Given the description of an element on the screen output the (x, y) to click on. 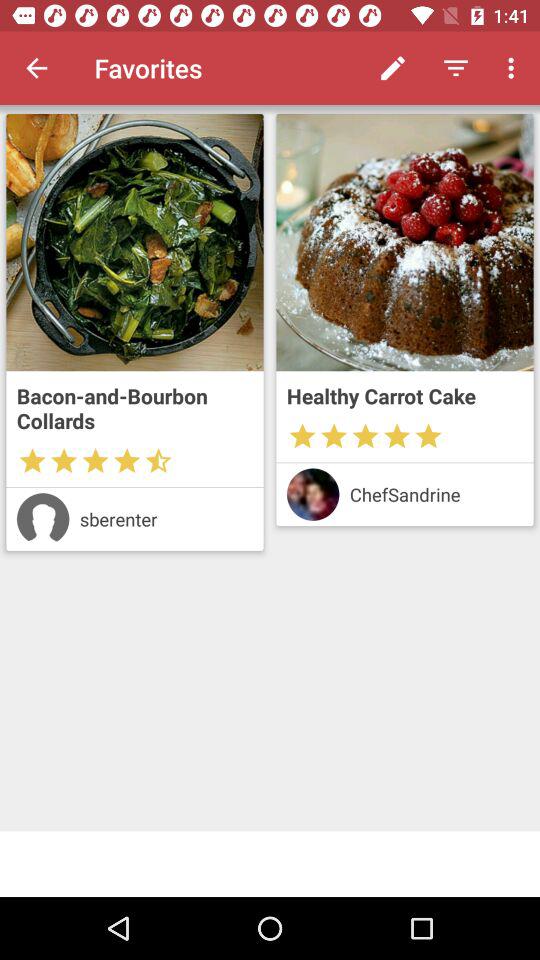
tap the chefsandrine (436, 494)
